Given the description of an element on the screen output the (x, y) to click on. 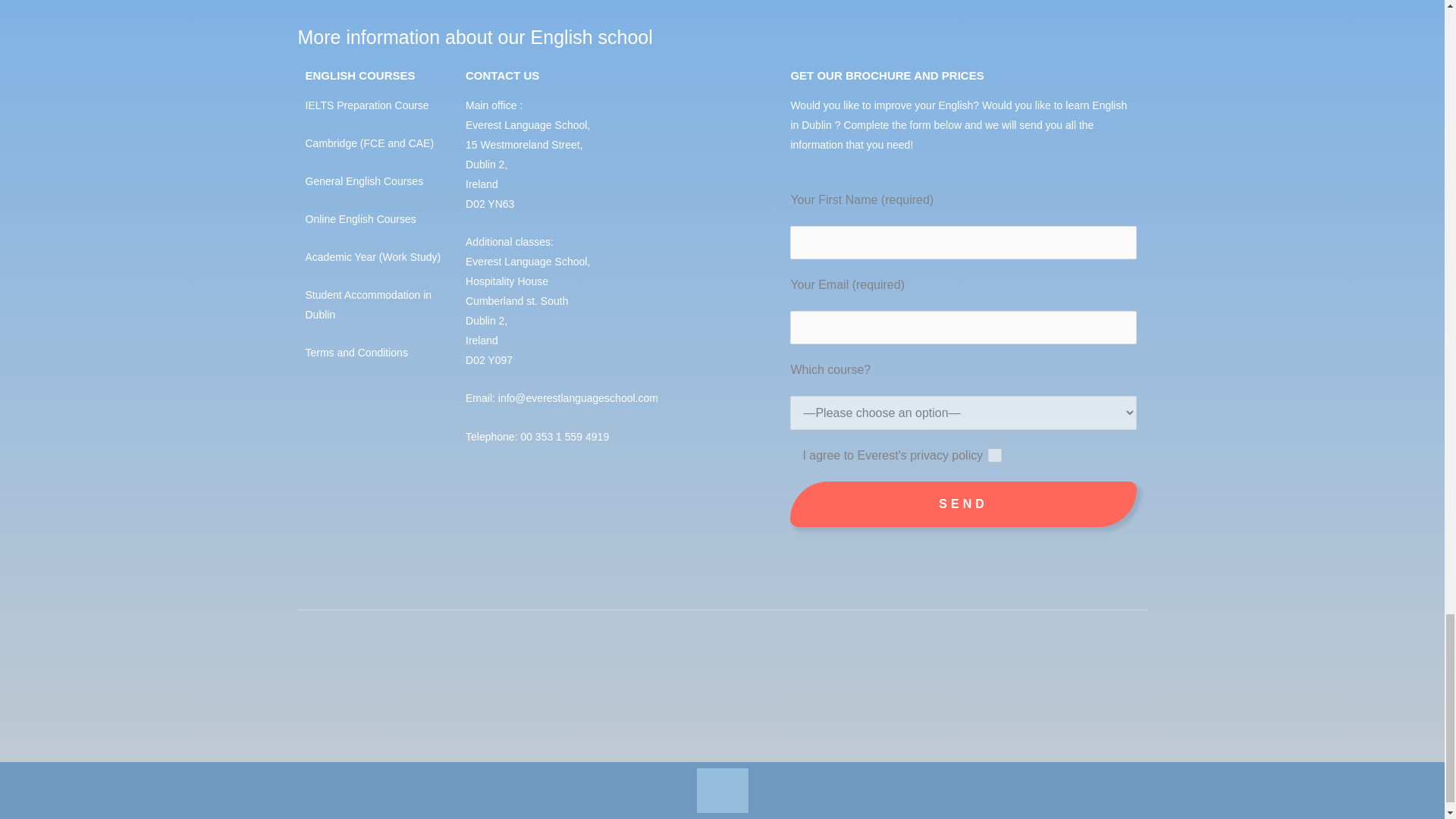
I agree to Everest's privacy policy (995, 454)
Send (962, 504)
